Given the description of an element on the screen output the (x, y) to click on. 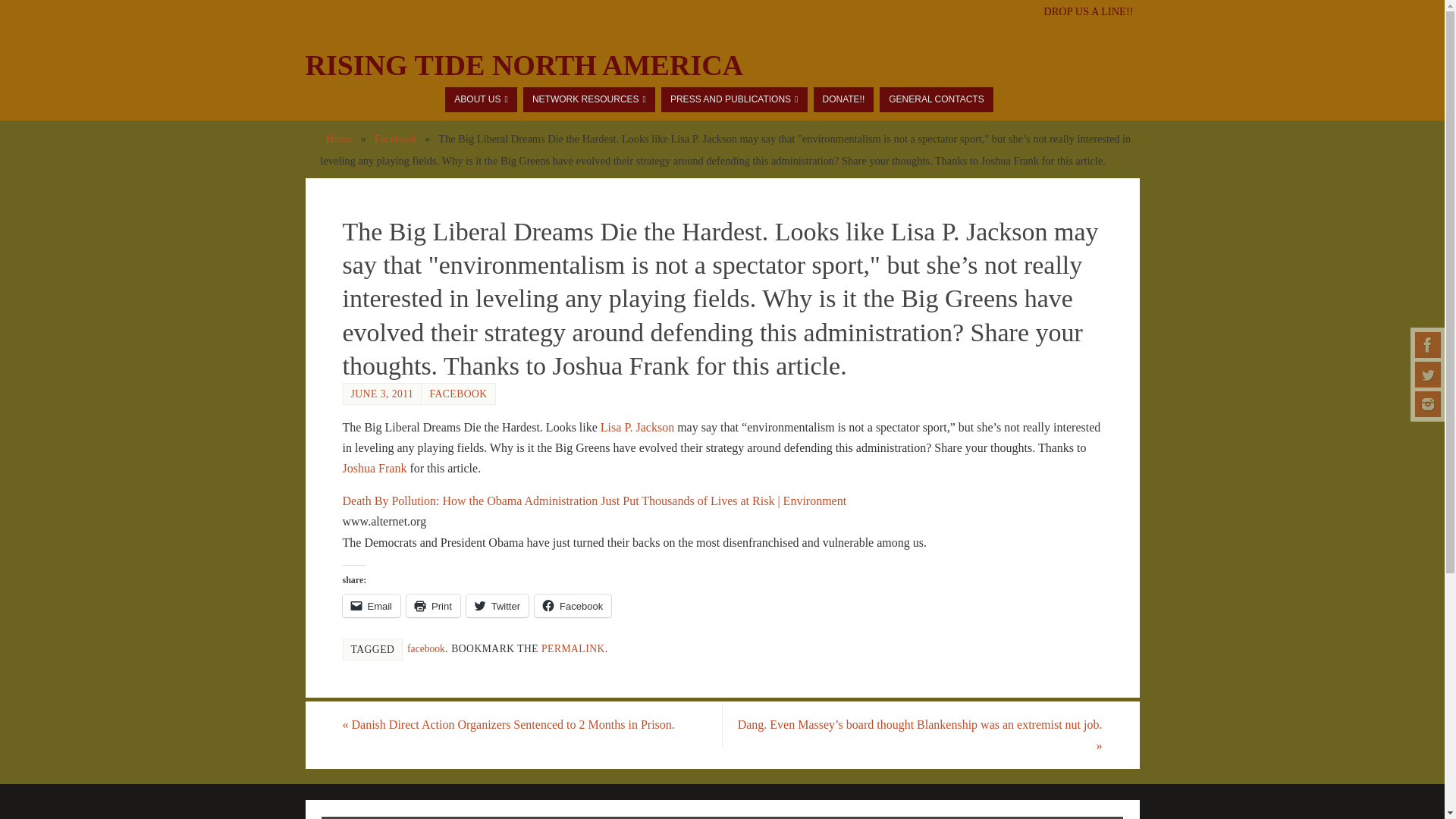
RISING TIDE NORTH AMERICA (523, 64)
Click to print (433, 605)
PRESS AND PUBLICATIONS (734, 98)
Click to share on Facebook (572, 605)
FACEBOOK (457, 393)
Click to share on Twitter (496, 605)
GENERAL CONTACTS (935, 98)
Rising Tide North America (523, 64)
ABOUT US (480, 98)
JUNE 3, 2011 (381, 393)
Facebook (395, 138)
DONATE!! (842, 98)
DROP US A LINE!! (1088, 11)
Facebook (1428, 344)
Instagram (1428, 403)
